Given the description of an element on the screen output the (x, y) to click on. 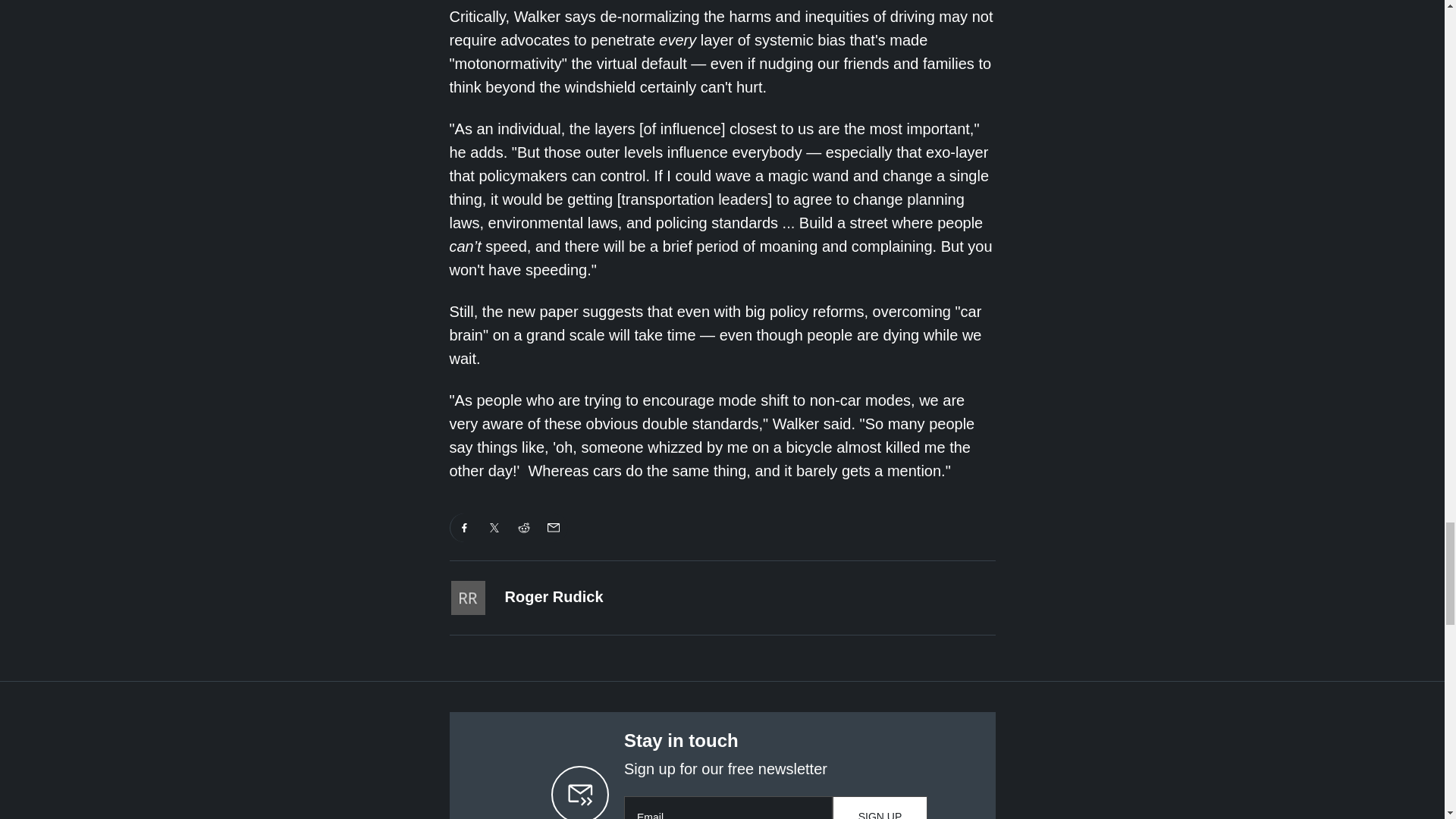
Share on Facebook (464, 527)
